Given the description of an element on the screen output the (x, y) to click on. 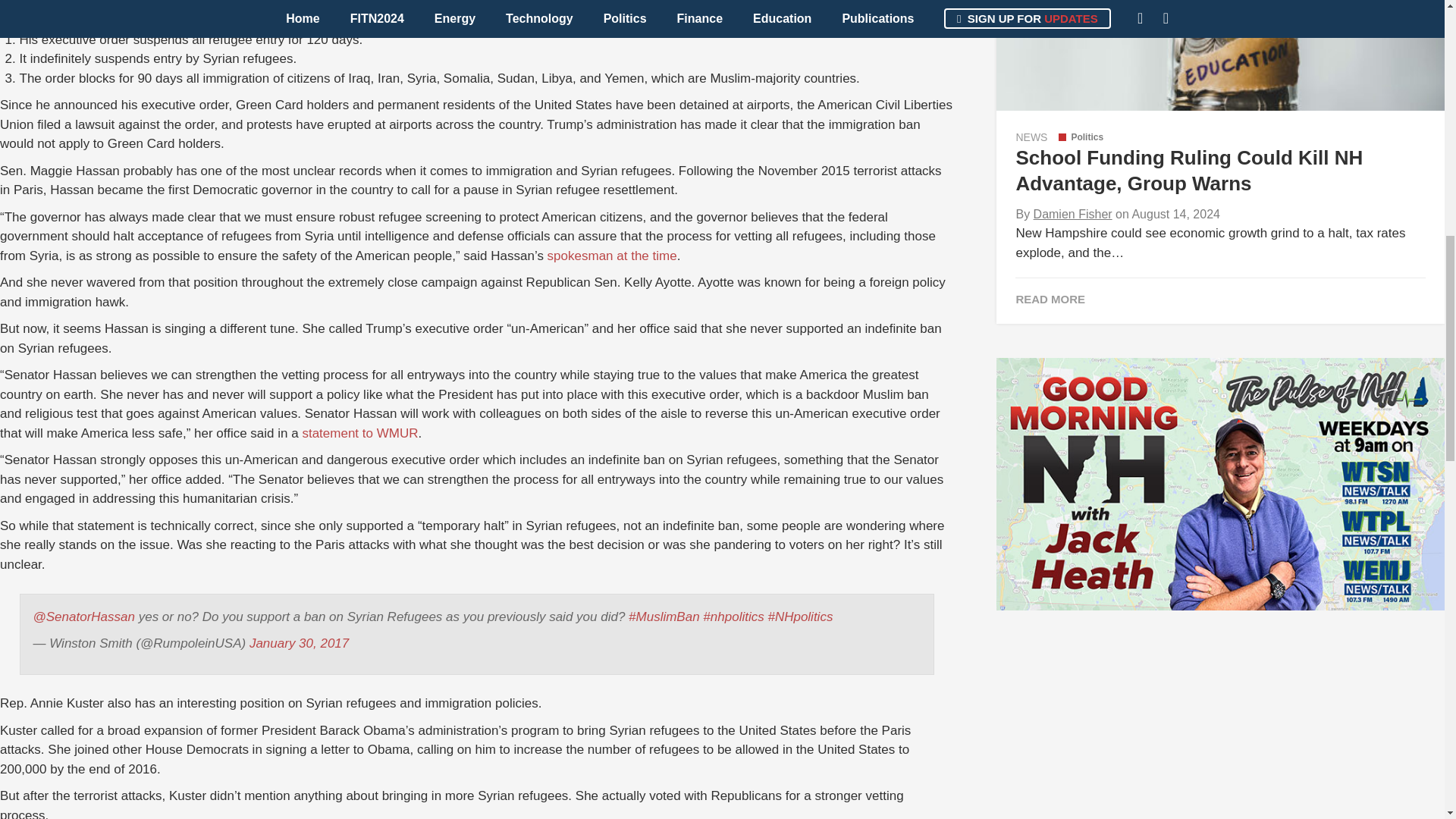
statement to WMUR (359, 432)
spokesman at the time (612, 255)
January 30, 2017 (298, 643)
Reuters (828, 0)
Posts by Damien Fisher (1072, 214)
USA Today (745, 0)
View all posts in Politics (1080, 136)
